Given the description of an element on the screen output the (x, y) to click on. 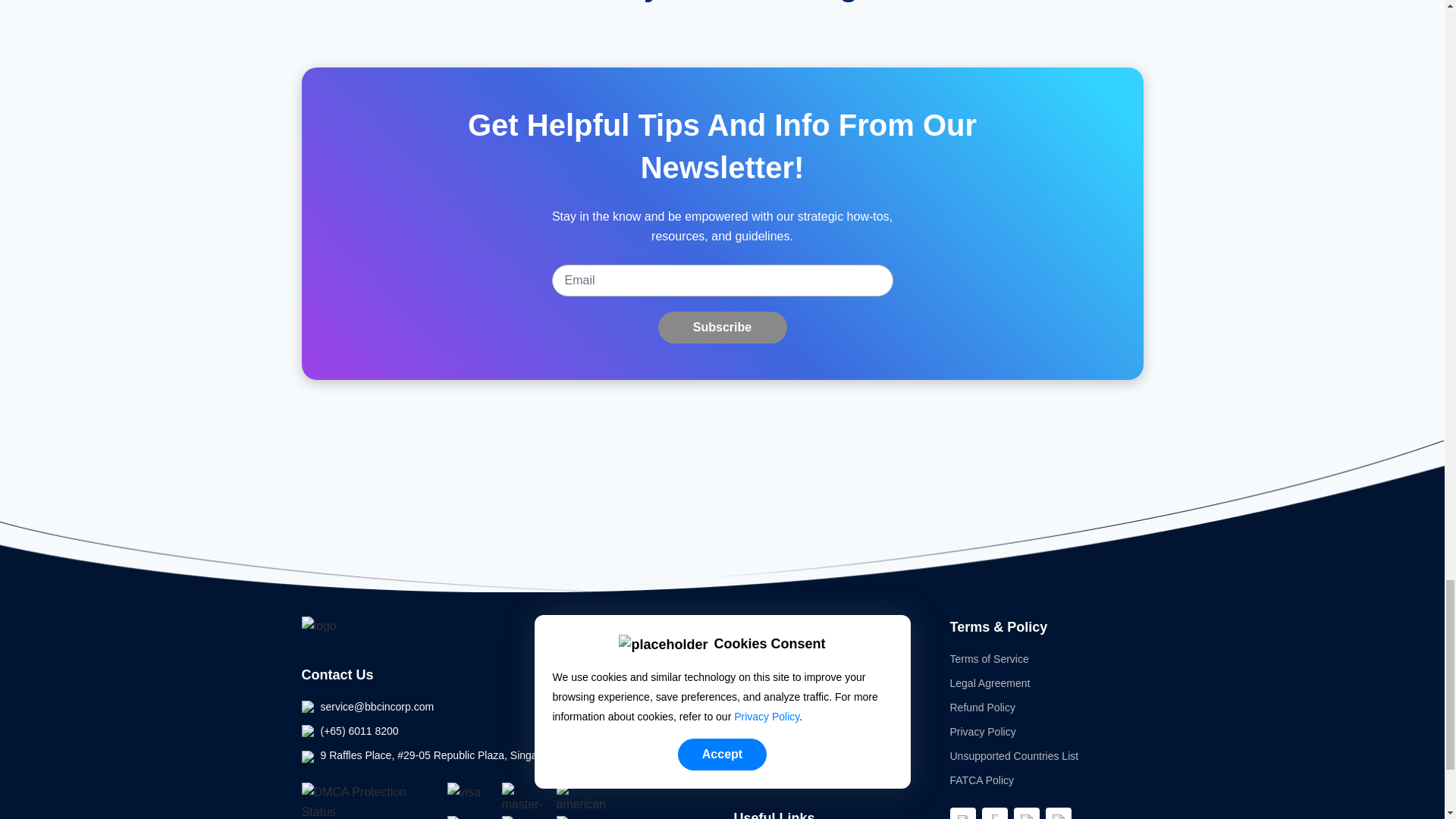
Company Secretary (780, 731)
Company Incorporation (788, 658)
Merchant Account Consulting (802, 779)
DMCA.com Protection Status (362, 800)
Immigration Service (780, 756)
Refund Policy (981, 707)
Subscribe (722, 327)
Terms of Service (988, 658)
Open Bank Account (780, 683)
Contact Us (337, 674)
Legal Agreement (989, 683)
